Given the description of an element on the screen output the (x, y) to click on. 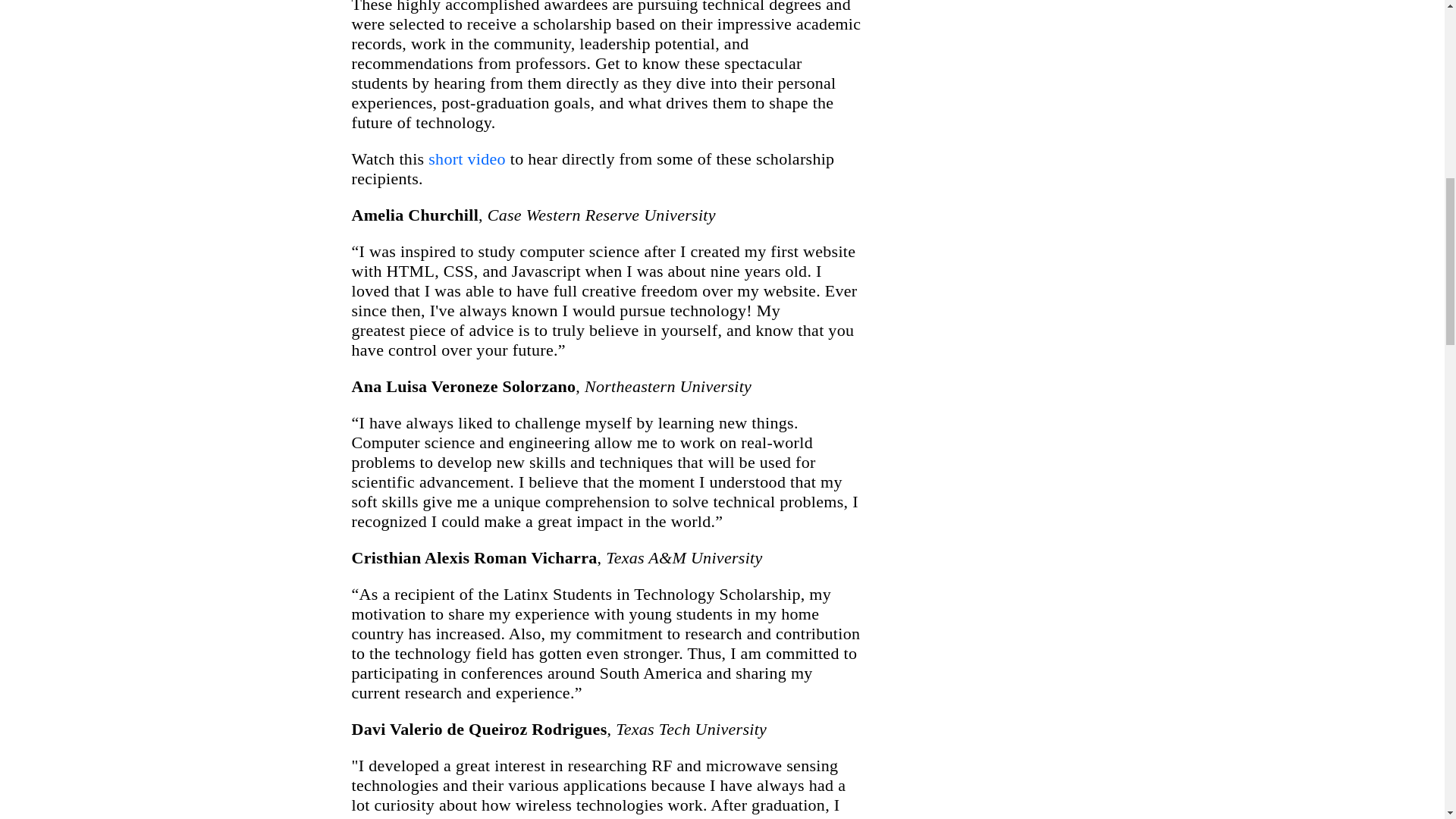
short video (466, 158)
